Given the description of an element on the screen output the (x, y) to click on. 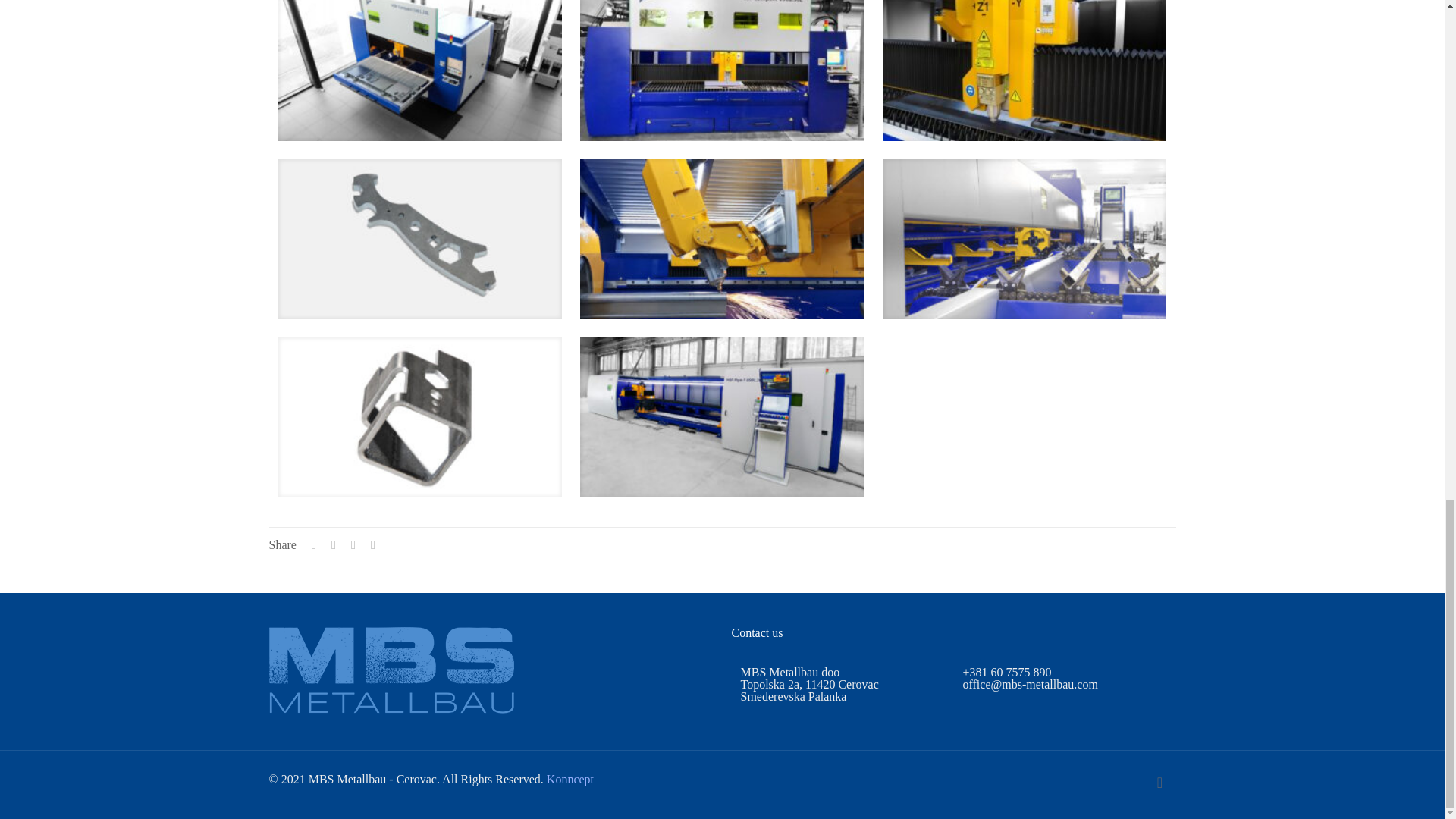
Konncept (570, 779)
